Given the description of an element on the screen output the (x, y) to click on. 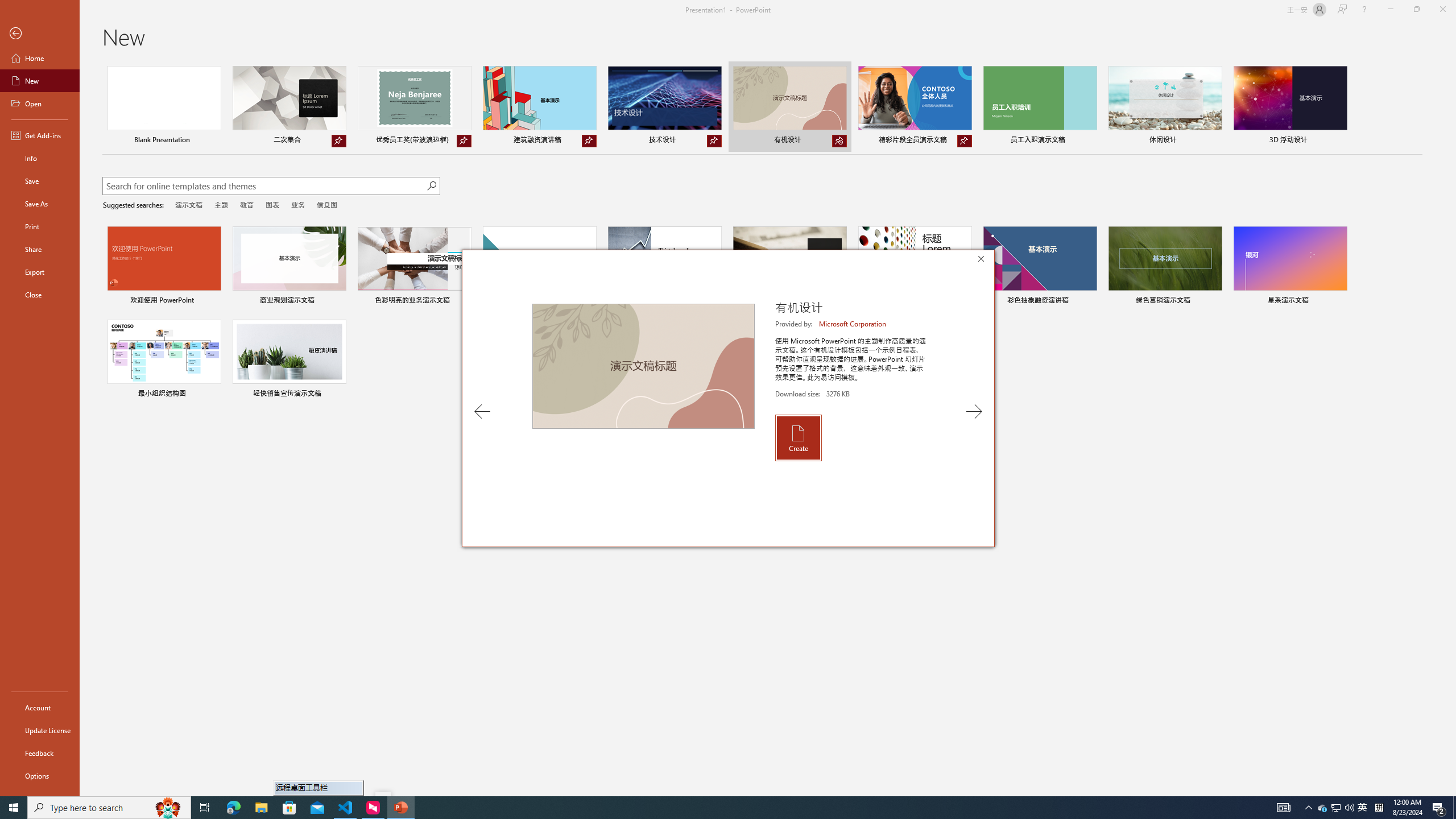
New (40, 80)
Get Add-ins (40, 134)
